Given the description of an element on the screen output the (x, y) to click on. 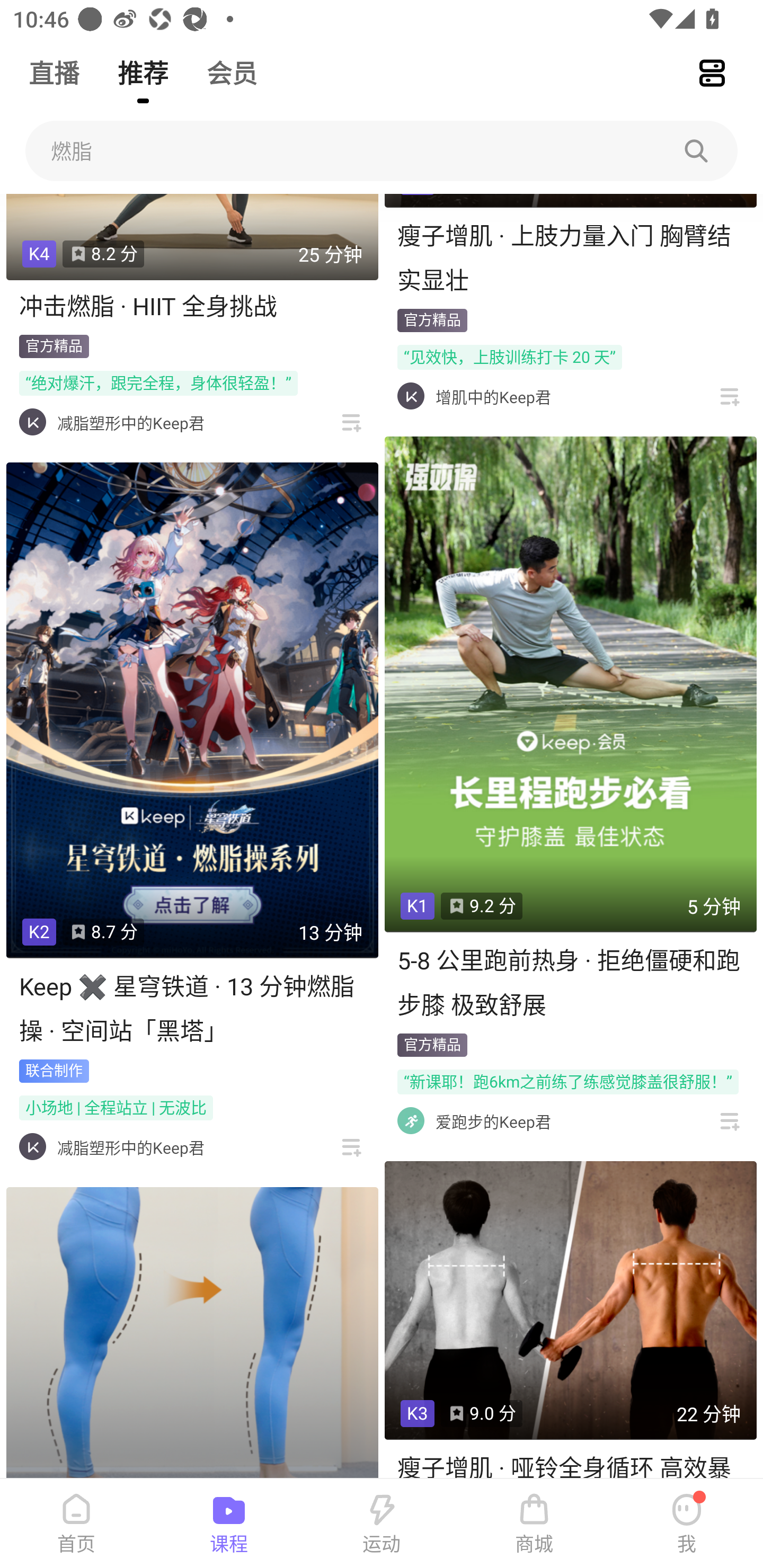
直播 (53, 64)
推荐 (142, 64)
会员 (231, 64)
燃脂 (381, 150)
增肌中的Keep君 (492, 396)
减脂塑形中的Keep君 (130, 423)
爱跑步的Keep君 (492, 1121)
减脂塑形中的Keep君 (130, 1147)
K3 9.0 分 22 分钟 瘦子增肌 · 哑铃全身循环 高效暴涨肌肉围度 (570, 1319)
首页 (76, 1523)
课程 (228, 1523)
运动 (381, 1523)
商城 (533, 1523)
我 (686, 1523)
